Given the description of an element on the screen output the (x, y) to click on. 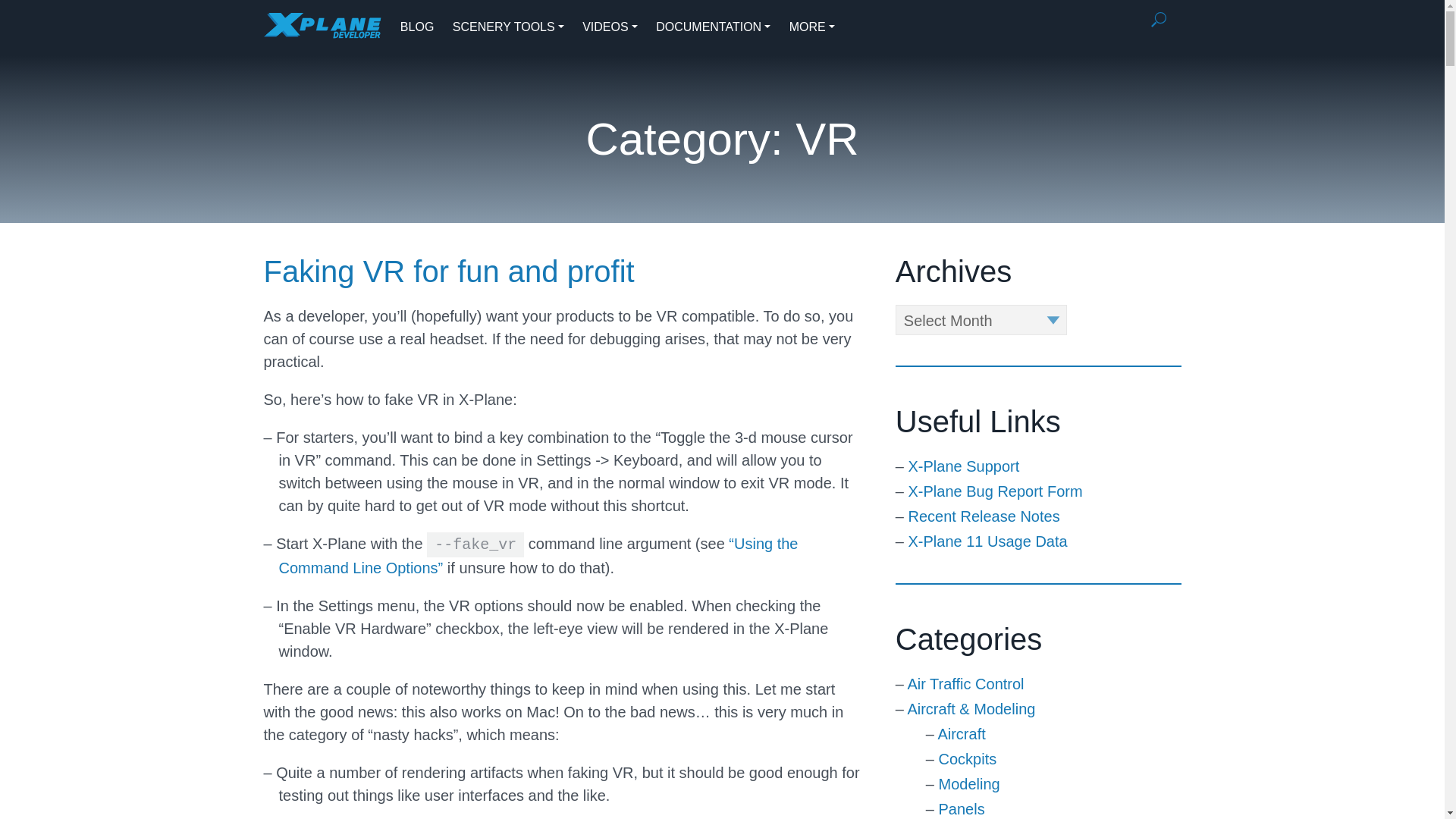
VIDEOS (609, 27)
Search (1158, 19)
MORE (811, 27)
SCENERY TOOLS (508, 27)
Faking VR for fun and profit (448, 271)
DOCUMENTATION (713, 27)
X-Plane Developer (322, 25)
BLOG (416, 27)
